Given the description of an element on the screen output the (x, y) to click on. 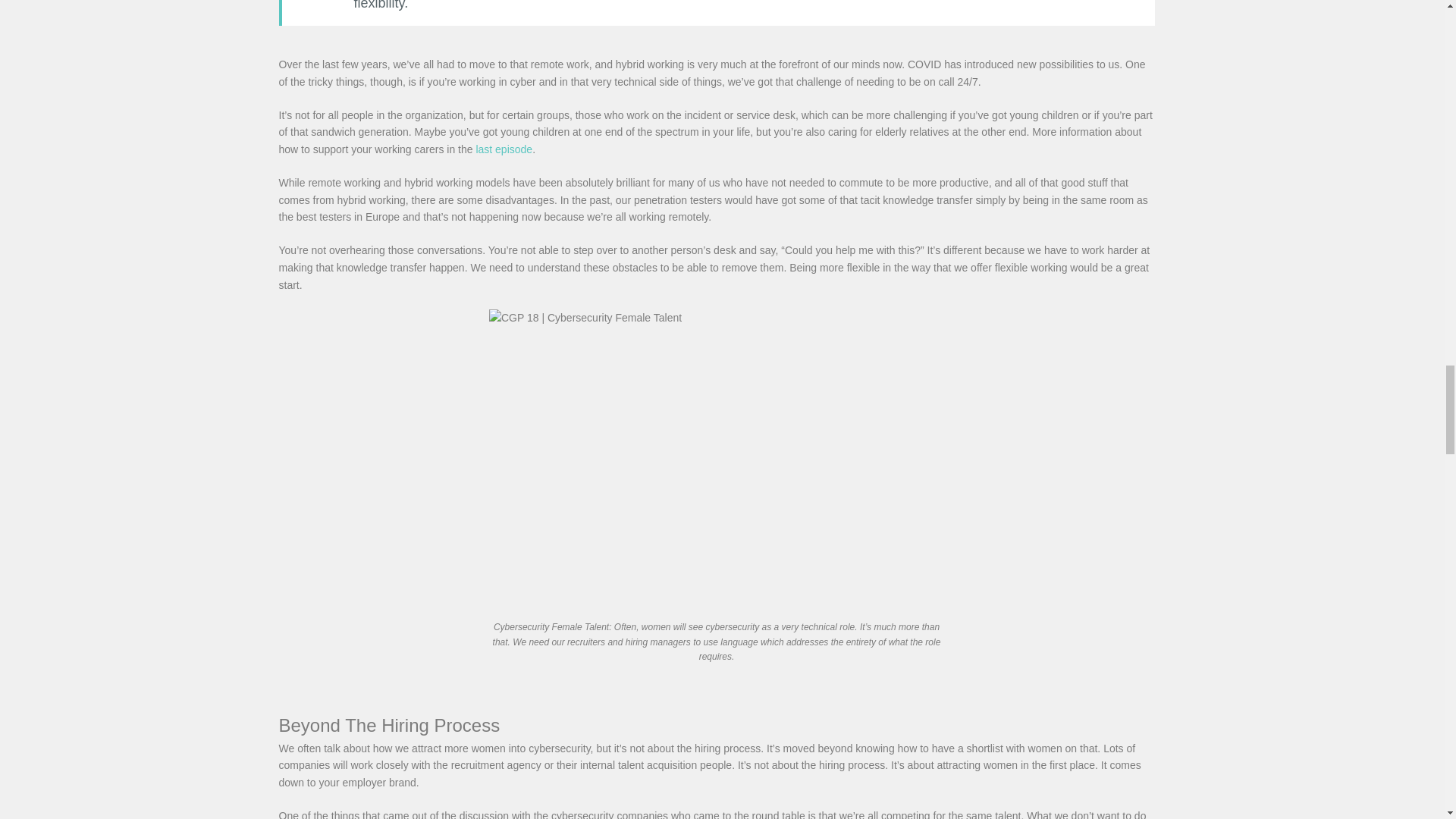
last episode (504, 149)
